Given the description of an element on the screen output the (x, y) to click on. 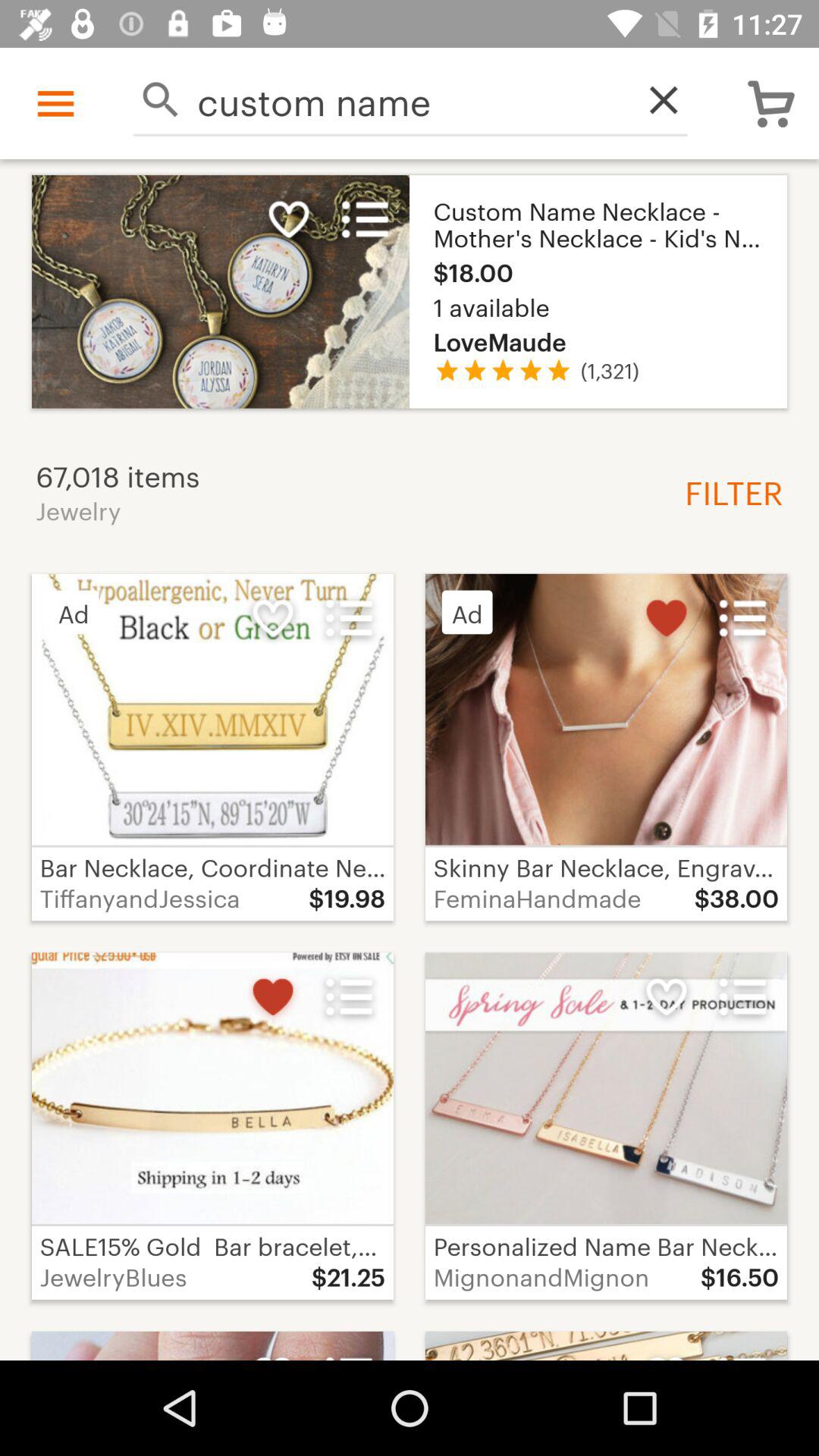
click filter (727, 491)
